Given the description of an element on the screen output the (x, y) to click on. 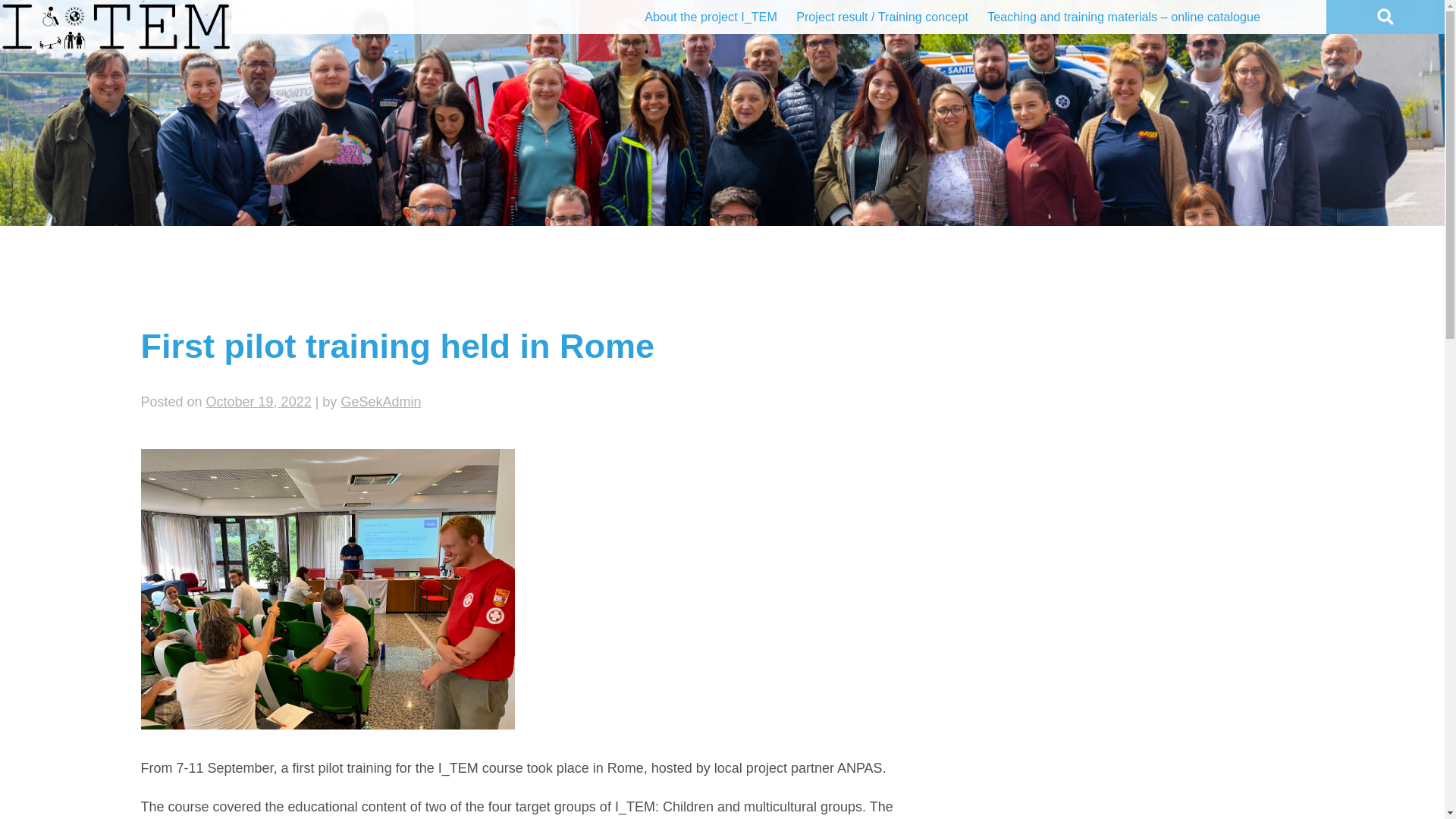
October 19, 2022 (258, 401)
GeSekAdmin (380, 401)
